Given the description of an element on the screen output the (x, y) to click on. 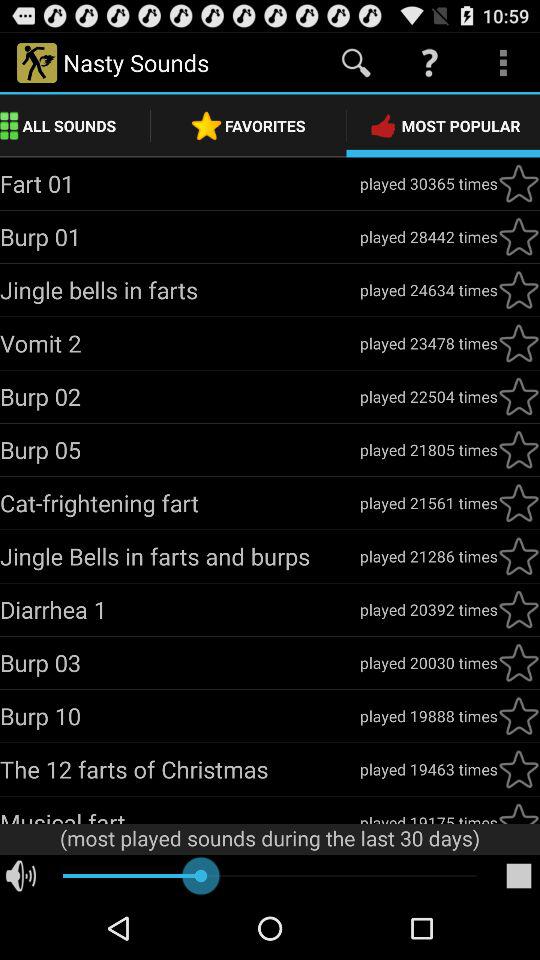
add file to favorites (519, 183)
